Given the description of an element on the screen output the (x, y) to click on. 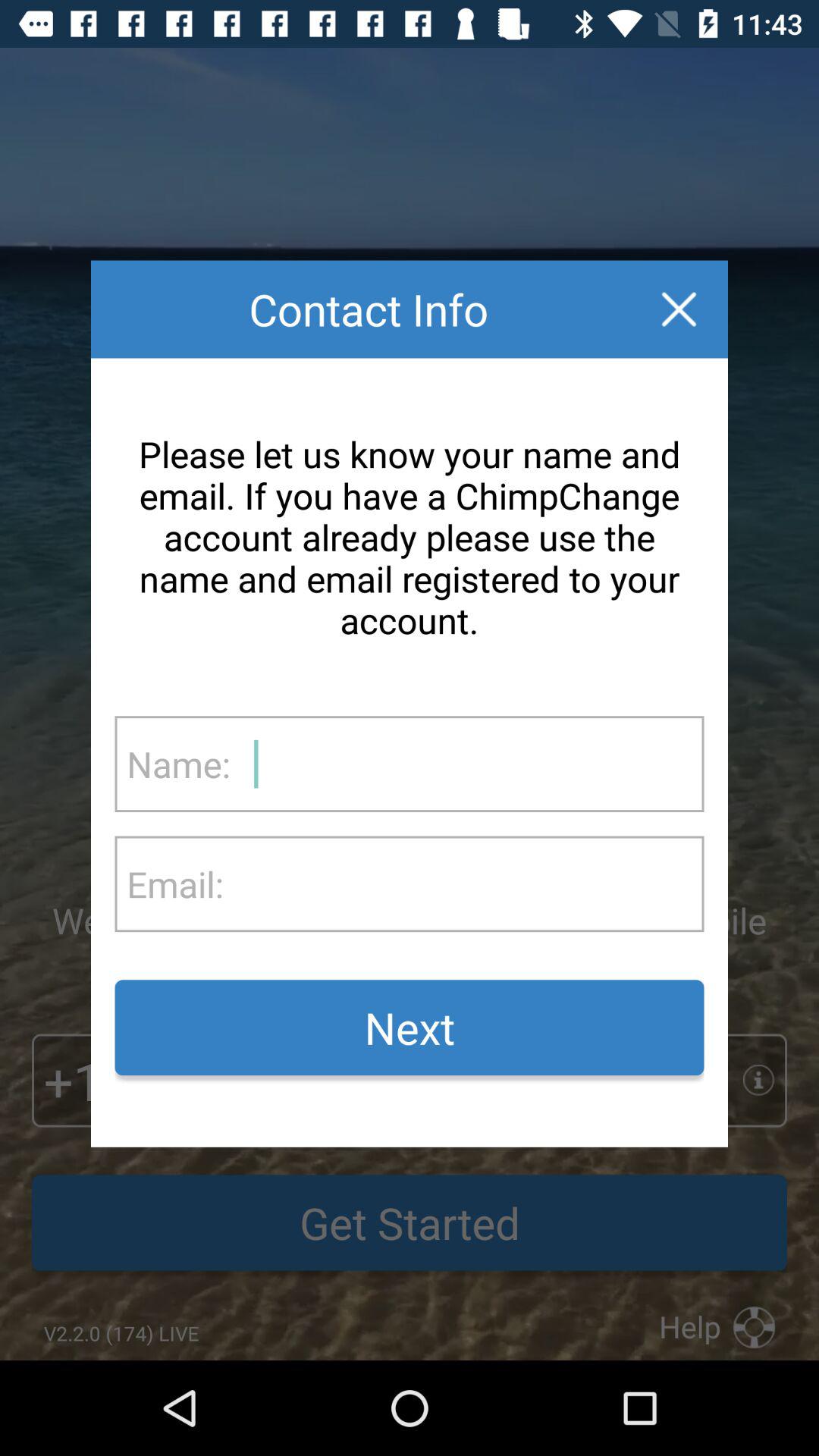
email address box (463, 884)
